Given the description of an element on the screen output the (x, y) to click on. 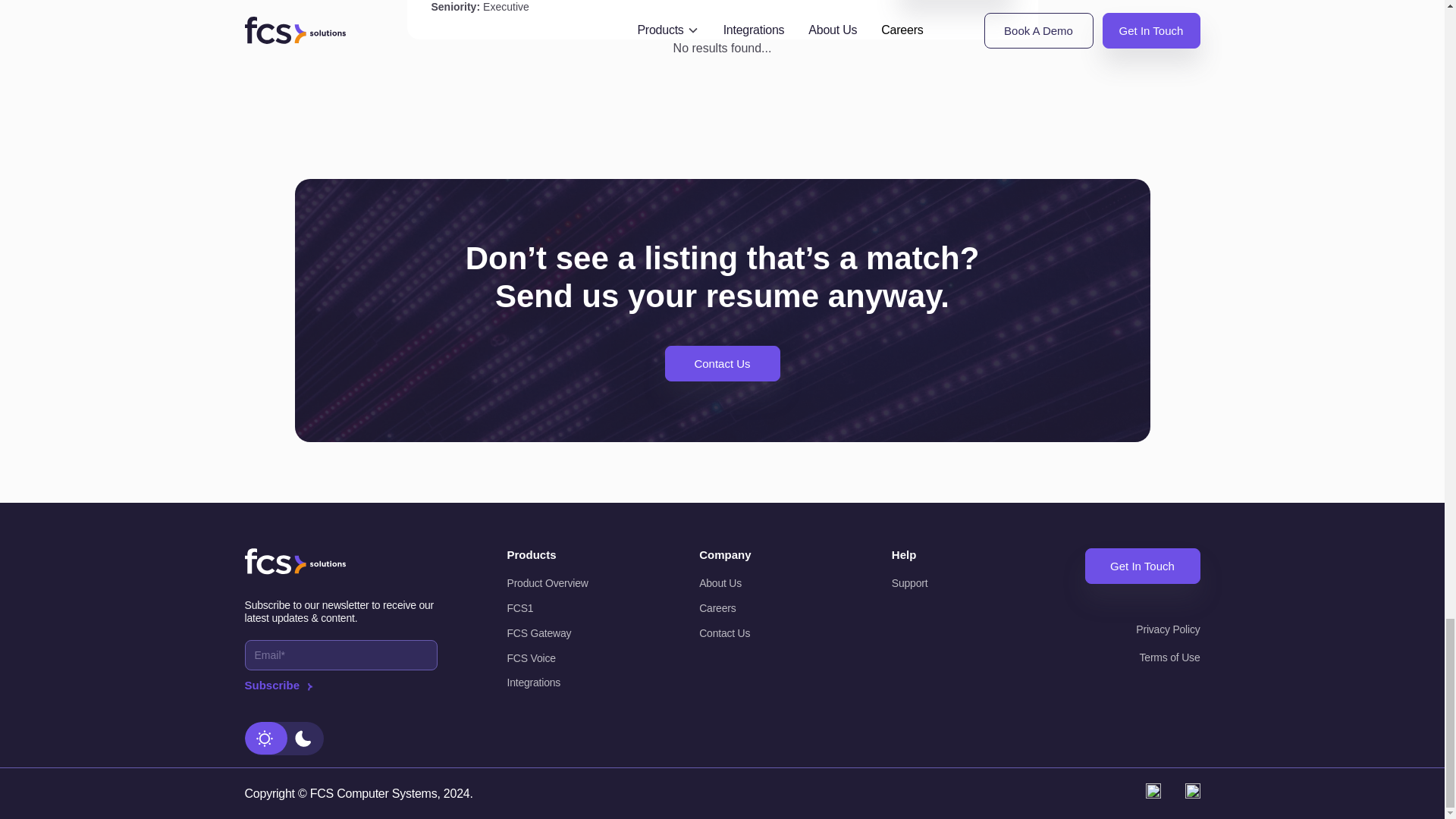
About Us (760, 583)
FCS1 (567, 608)
Careers (760, 608)
FCS Voice (567, 658)
FCS Gateway (567, 633)
Contact Us (720, 363)
Submit (340, 685)
Integrations (567, 682)
Product Overview (567, 583)
